Given the description of an element on the screen output the (x, y) to click on. 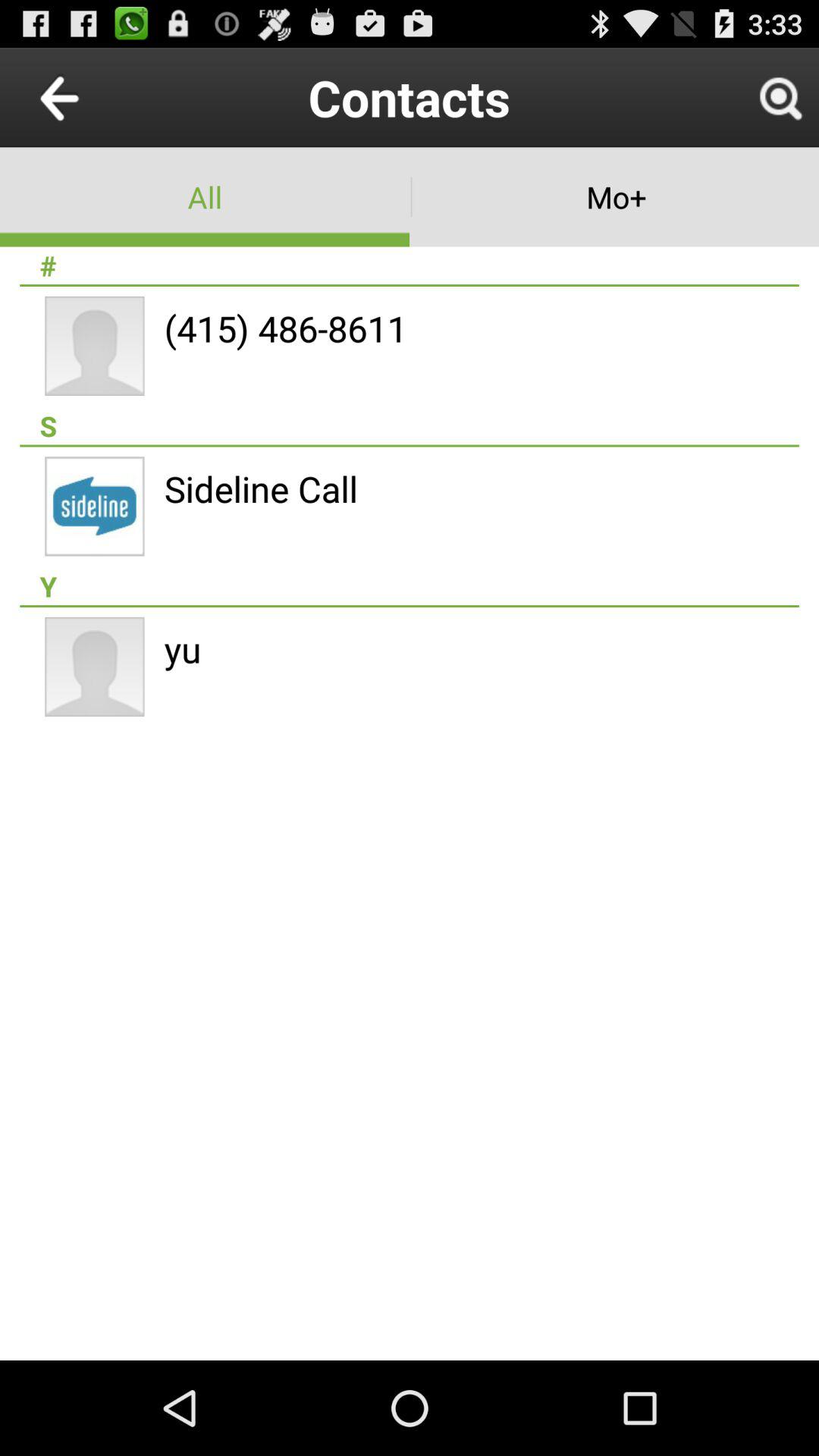
turn off icon next to contacts icon (779, 97)
